Given the description of an element on the screen output the (x, y) to click on. 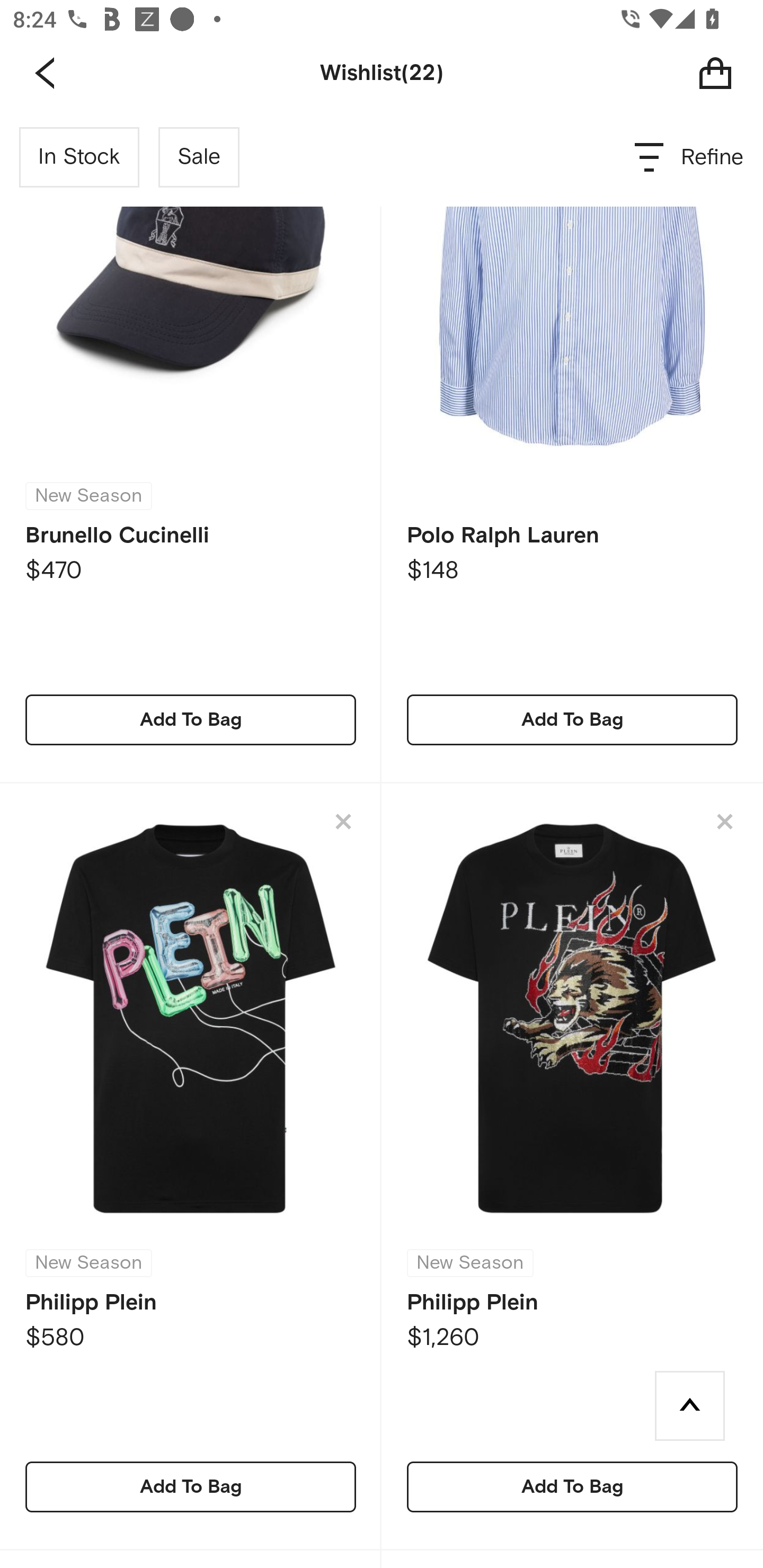
New Season Brunello Cucinelli $470 Add To Bag (190, 446)
Polo Ralph Lauren $148 Add To Bag (572, 446)
In Stock (79, 157)
Sale (198, 157)
Refine (690, 157)
Add To Bag (190, 719)
Add To Bag (571, 719)
New Season Philipp Plein $580 Add To Bag (190, 1167)
New Season Philipp Plein $1,260 Add To Bag (572, 1167)
Add To Bag (190, 1486)
Add To Bag (571, 1486)
